Given the description of an element on the screen output the (x, y) to click on. 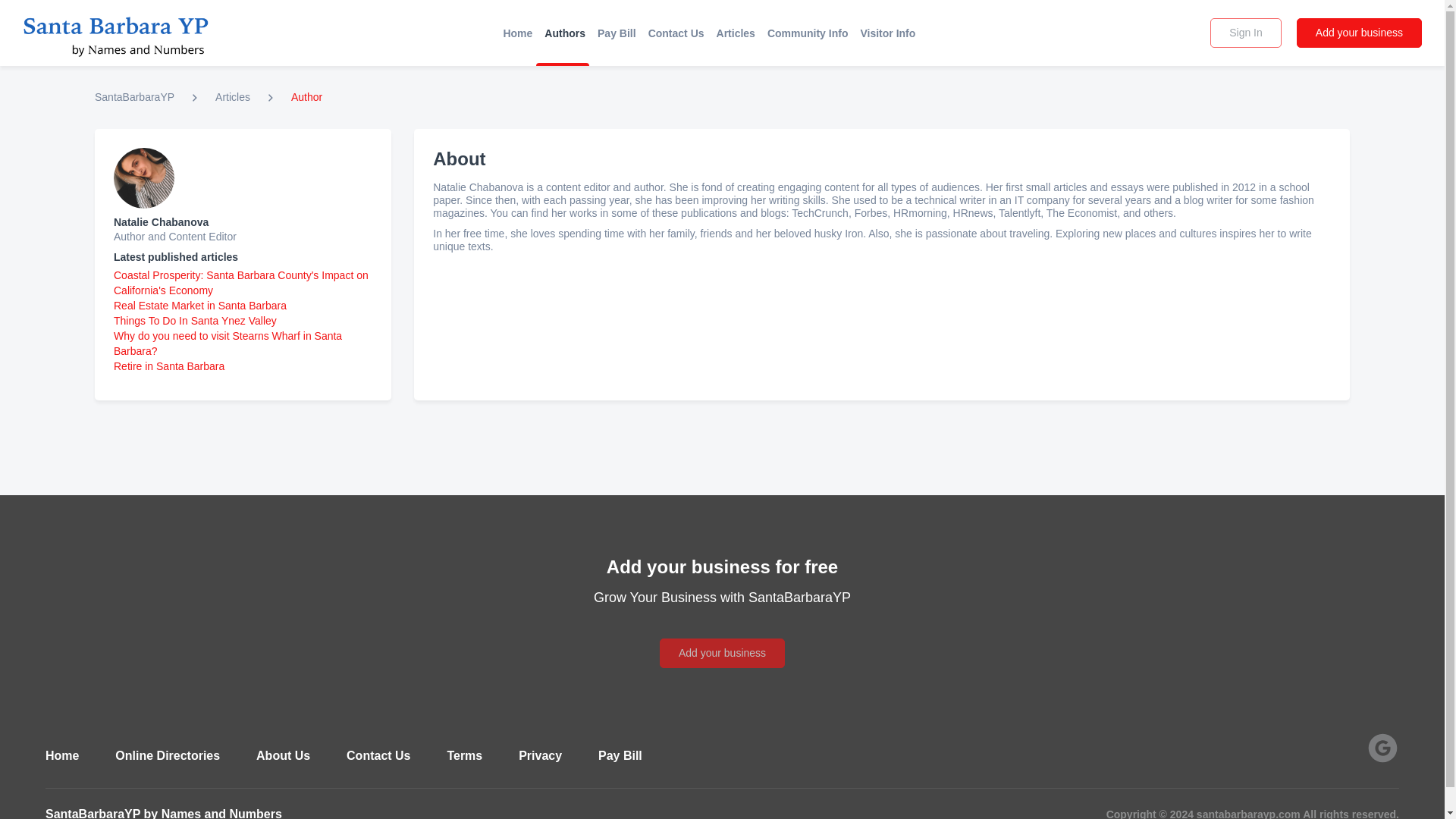
Contact Us (378, 755)
Home (61, 755)
SantaBarbaraYP (134, 96)
Home (517, 32)
Online Directories (167, 755)
Terms (463, 755)
Retire in Santa Barbara (168, 366)
Visitor Info (887, 32)
Things To Do In Santa Ynez Valley (194, 320)
Community Info (807, 32)
